Given the description of an element on the screen output the (x, y) to click on. 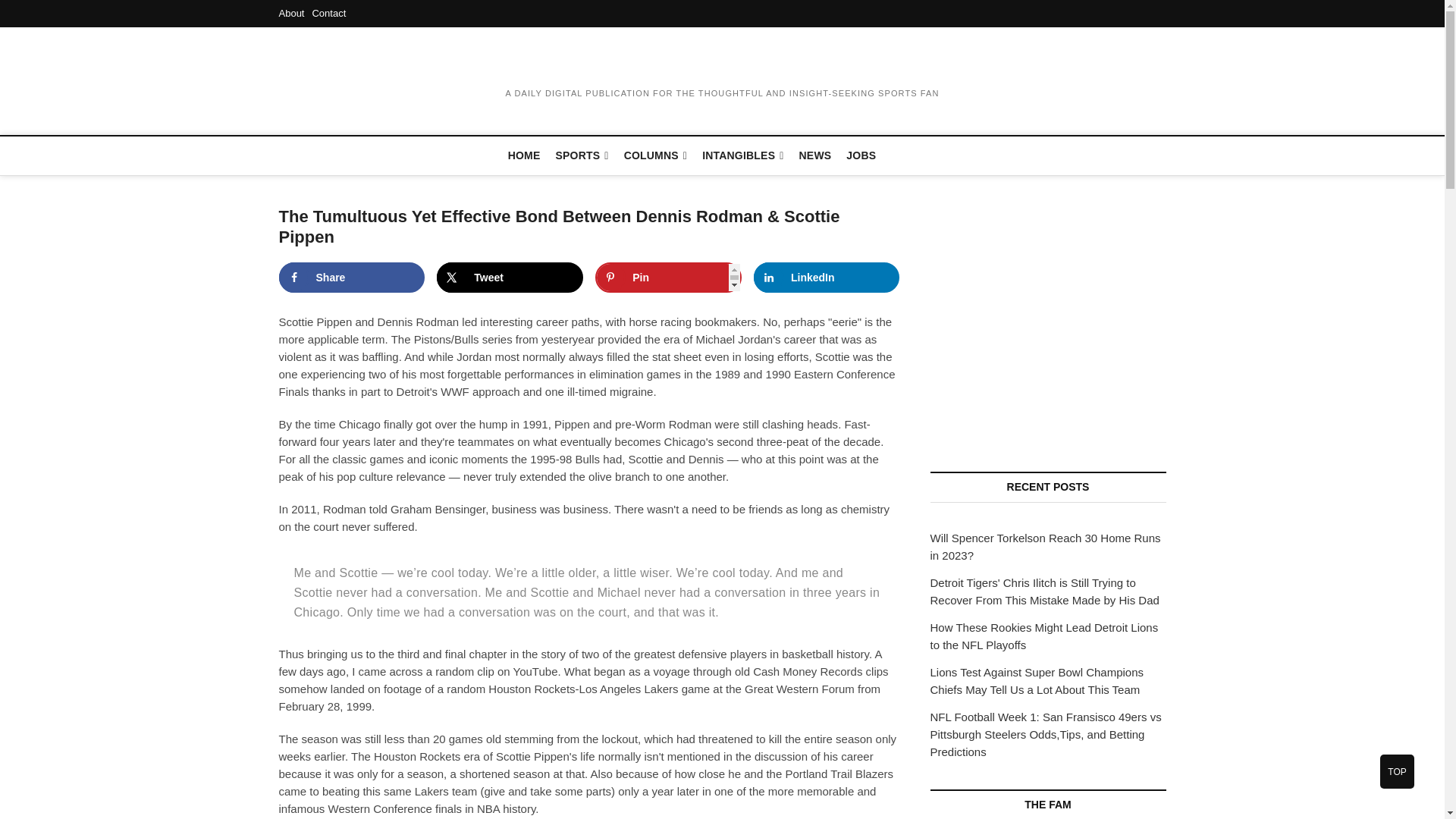
Share on X (509, 277)
COLUMNS (655, 155)
JOBS (860, 155)
About (291, 12)
NEWS (816, 155)
Contact (328, 12)
INTANGIBLES (742, 155)
Share on LinkedIn (826, 277)
Tweet (509, 277)
Save to Pinterest (668, 277)
